Given the description of an element on the screen output the (x, y) to click on. 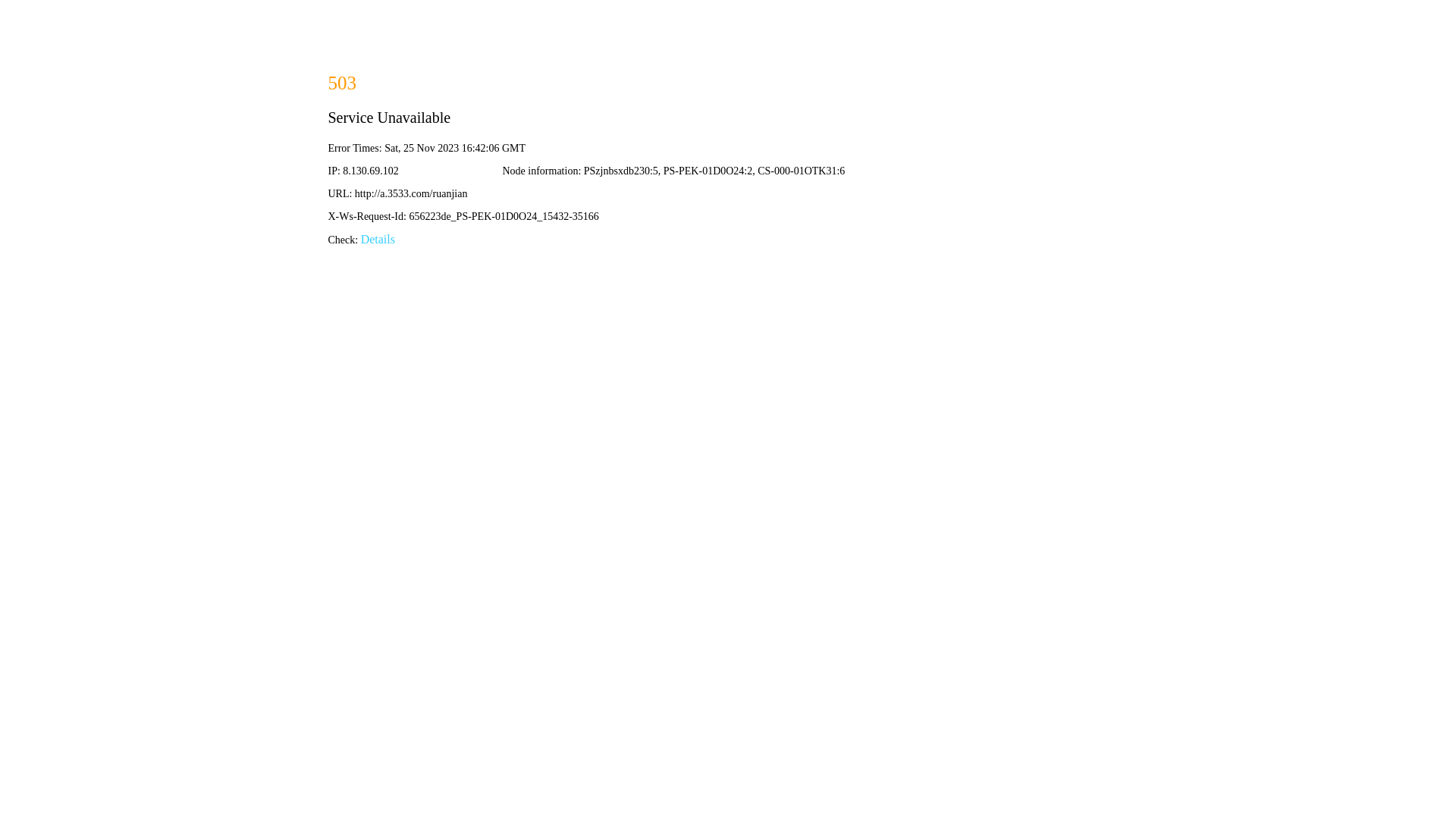
Details Element type: text (377, 238)
